Given the description of an element on the screen output the (x, y) to click on. 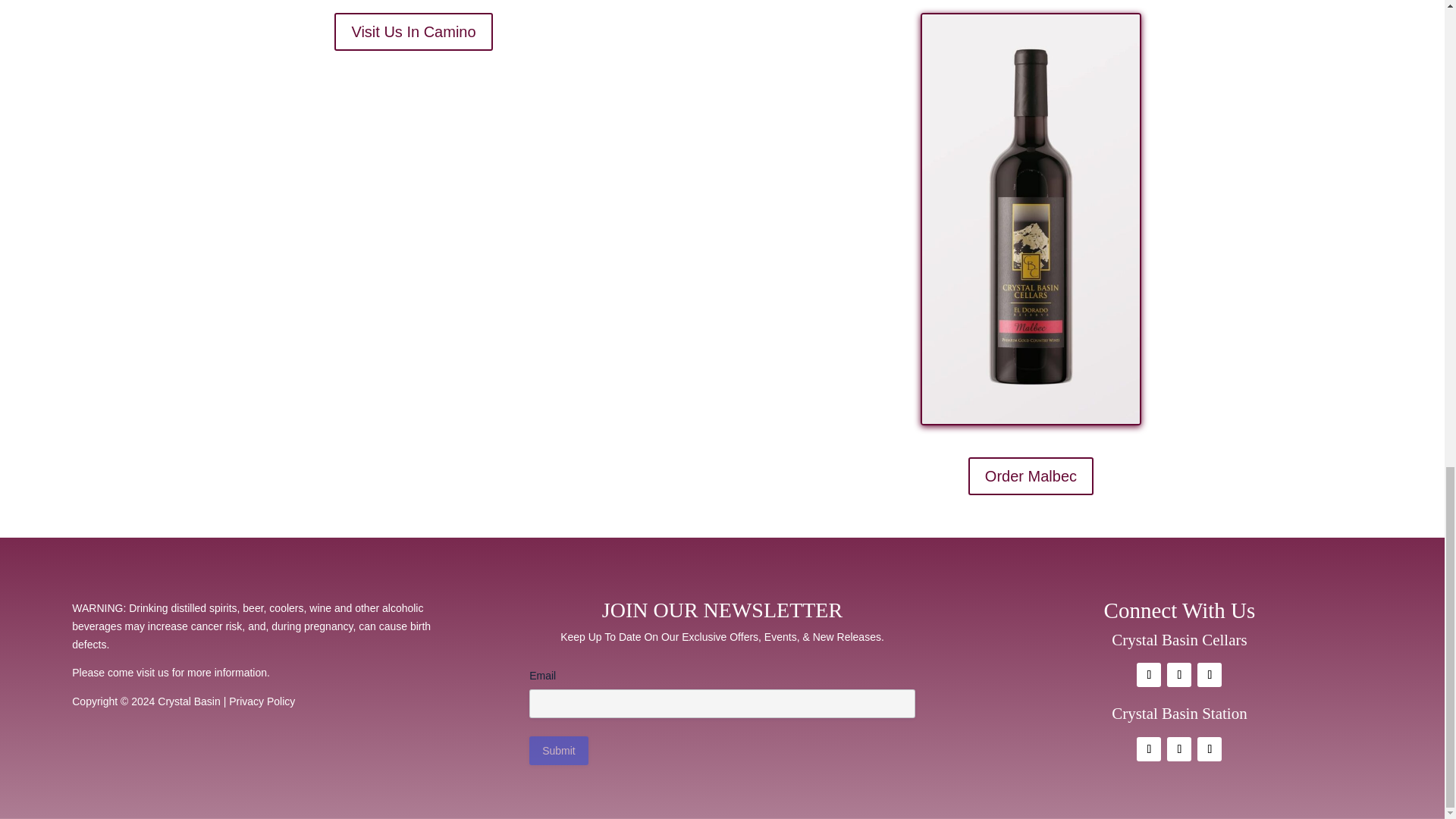
Submit (558, 750)
Follow on Facebook (1148, 749)
Submit (558, 750)
Follow on Facebook (1148, 674)
Privacy Policy (261, 701)
Follow on Youtube (1208, 674)
Follow on Youtube (1208, 749)
Visit Us In Camino (413, 31)
Follow on Instagram (1179, 749)
Order Malbec (1030, 476)
Follow on Instagram (1179, 674)
